Given the description of an element on the screen output the (x, y) to click on. 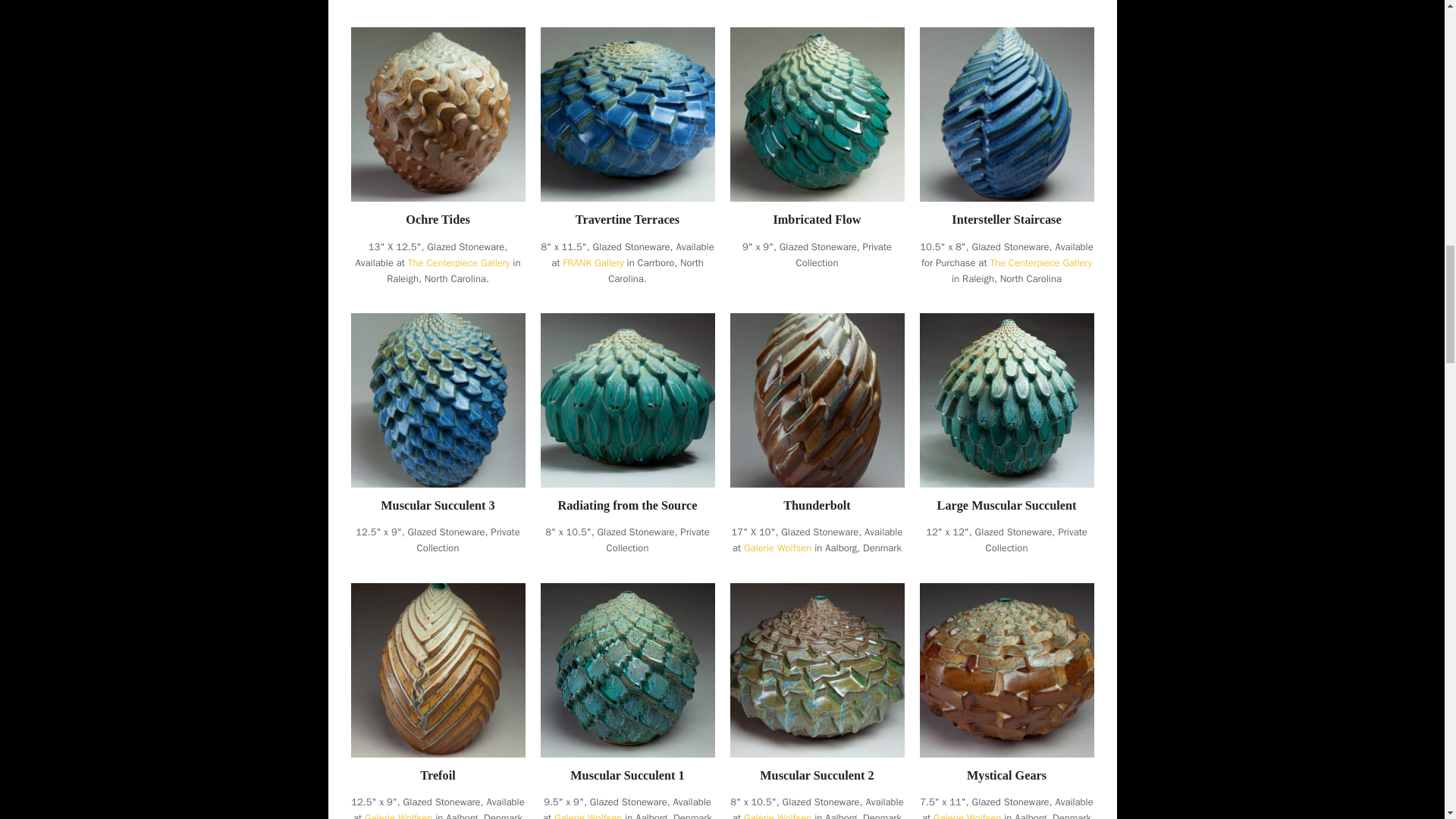
Imbricated Flow (816, 113)
Travertine Terraces (627, 113)
Muscular Succulent 3 (437, 399)
Intersteller Staircase (1005, 113)
Ochre Tides (437, 113)
